Given the description of an element on the screen output the (x, y) to click on. 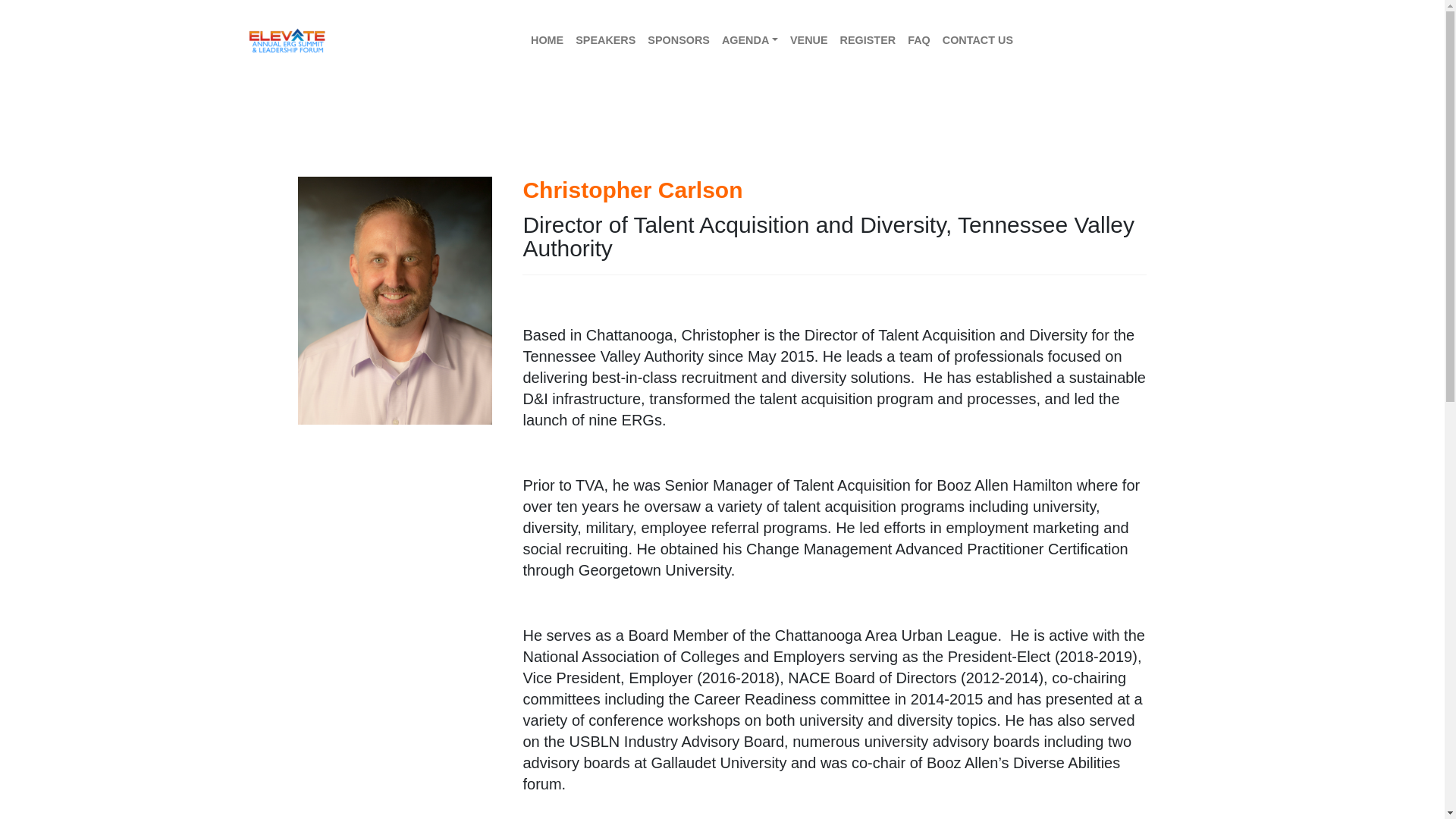
VENUE (809, 40)
AGENDA (750, 40)
SPEAKERS (605, 40)
FAQ (918, 40)
CONTACT US (977, 40)
HOME (546, 40)
SPONSORS (679, 40)
REGISTER (868, 40)
